Given the description of an element on the screen output the (x, y) to click on. 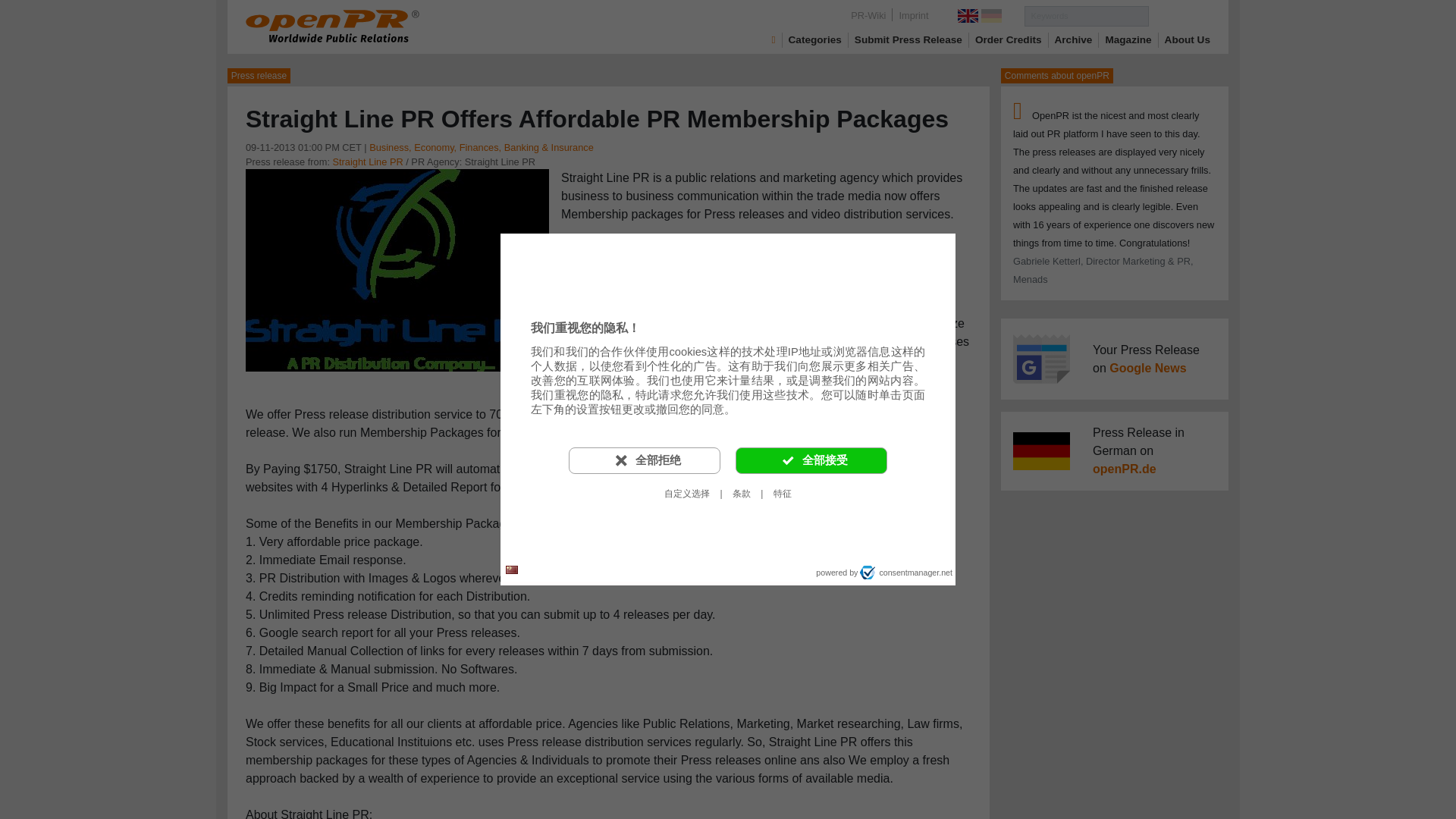
Language: zh (511, 569)
About Us (1186, 39)
Imprint (913, 15)
Straight Line PR Offers Affordable PR Membership Packages (397, 269)
Categories (815, 39)
PR-Wiki (867, 15)
Archive (1073, 39)
Language: zh (511, 569)
Search   (1178, 15)
Submit Press Release (908, 39)
